Given the description of an element on the screen output the (x, y) to click on. 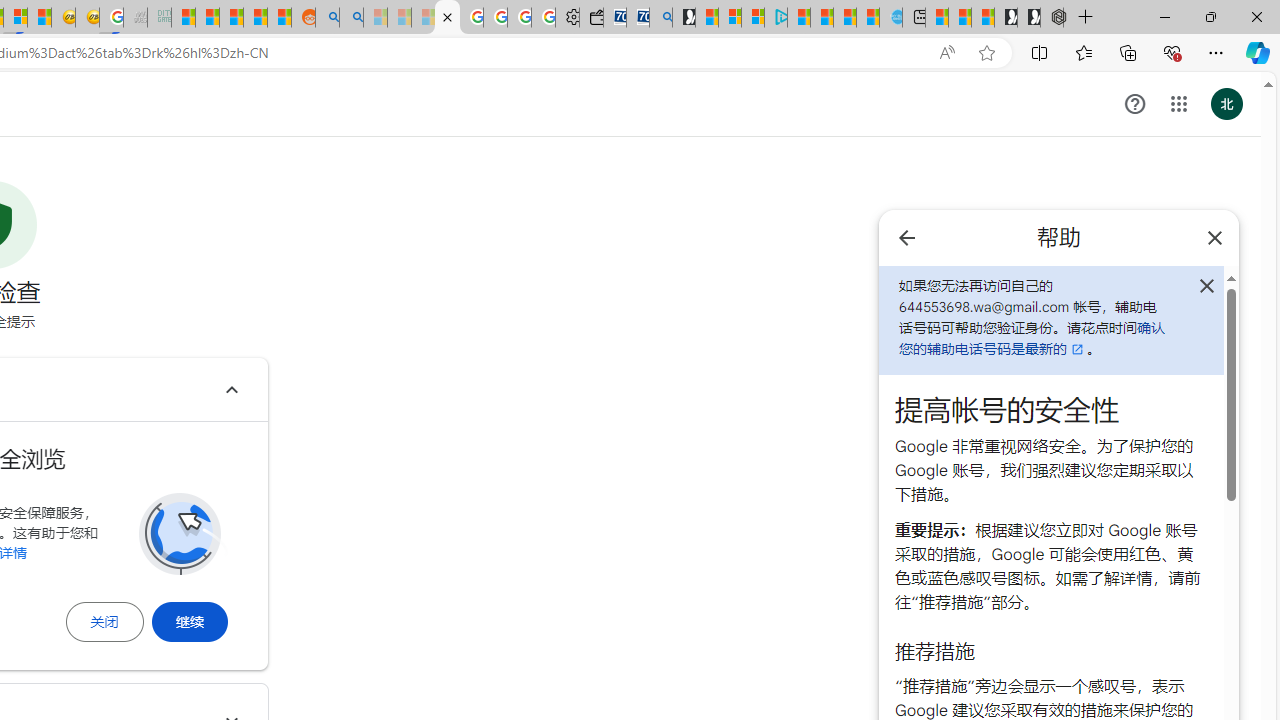
Bing Real Estate - Home sales and rental listings (660, 17)
